Given the description of an element on the screen output the (x, y) to click on. 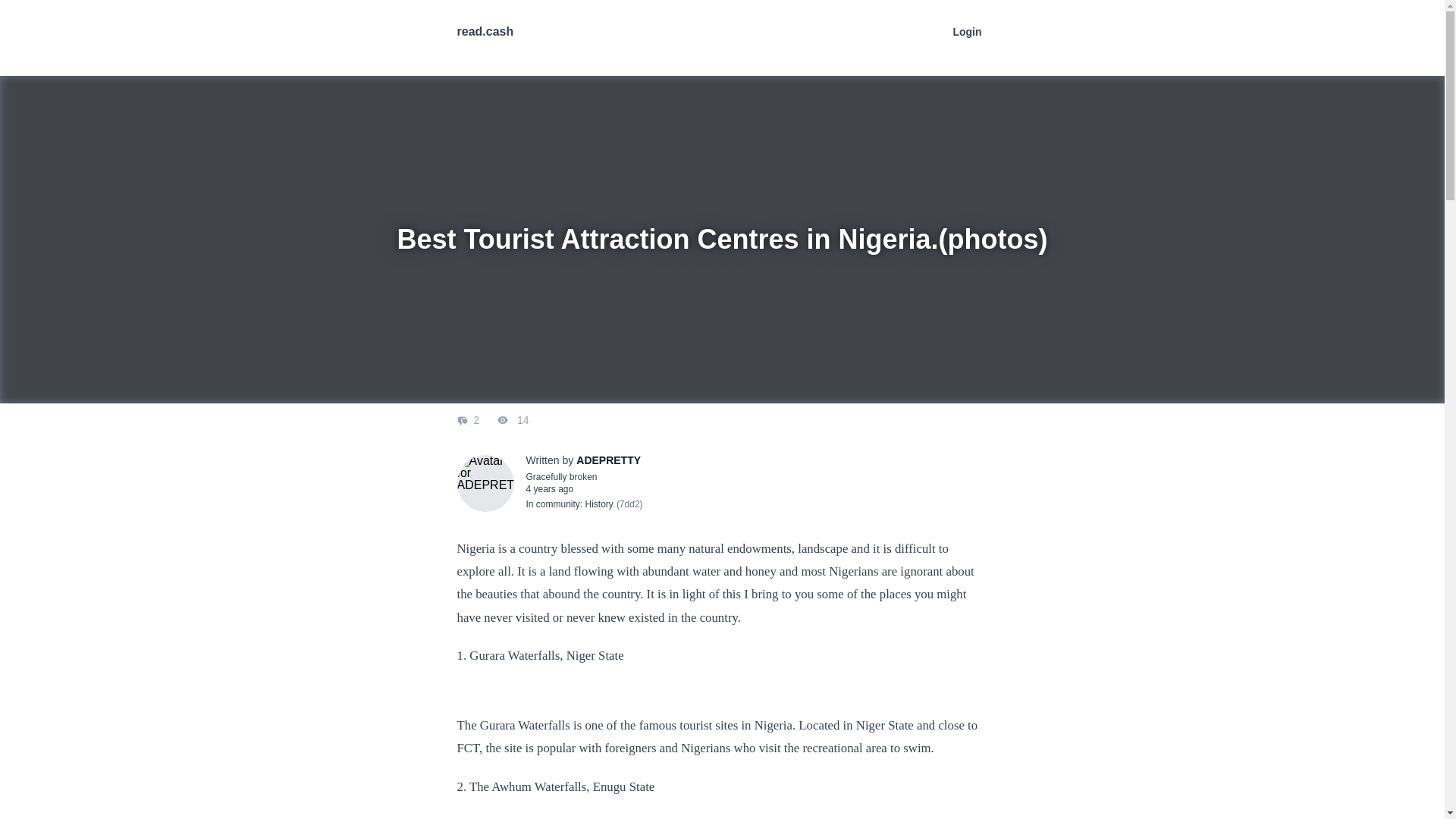
ADEPRETTY (608, 459)
2020-05-25 23:29:59 (549, 489)
2 (469, 419)
Number of people who saw the article or submission (504, 419)
Login (966, 31)
community (557, 503)
read.cash (485, 31)
